Given the description of an element on the screen output the (x, y) to click on. 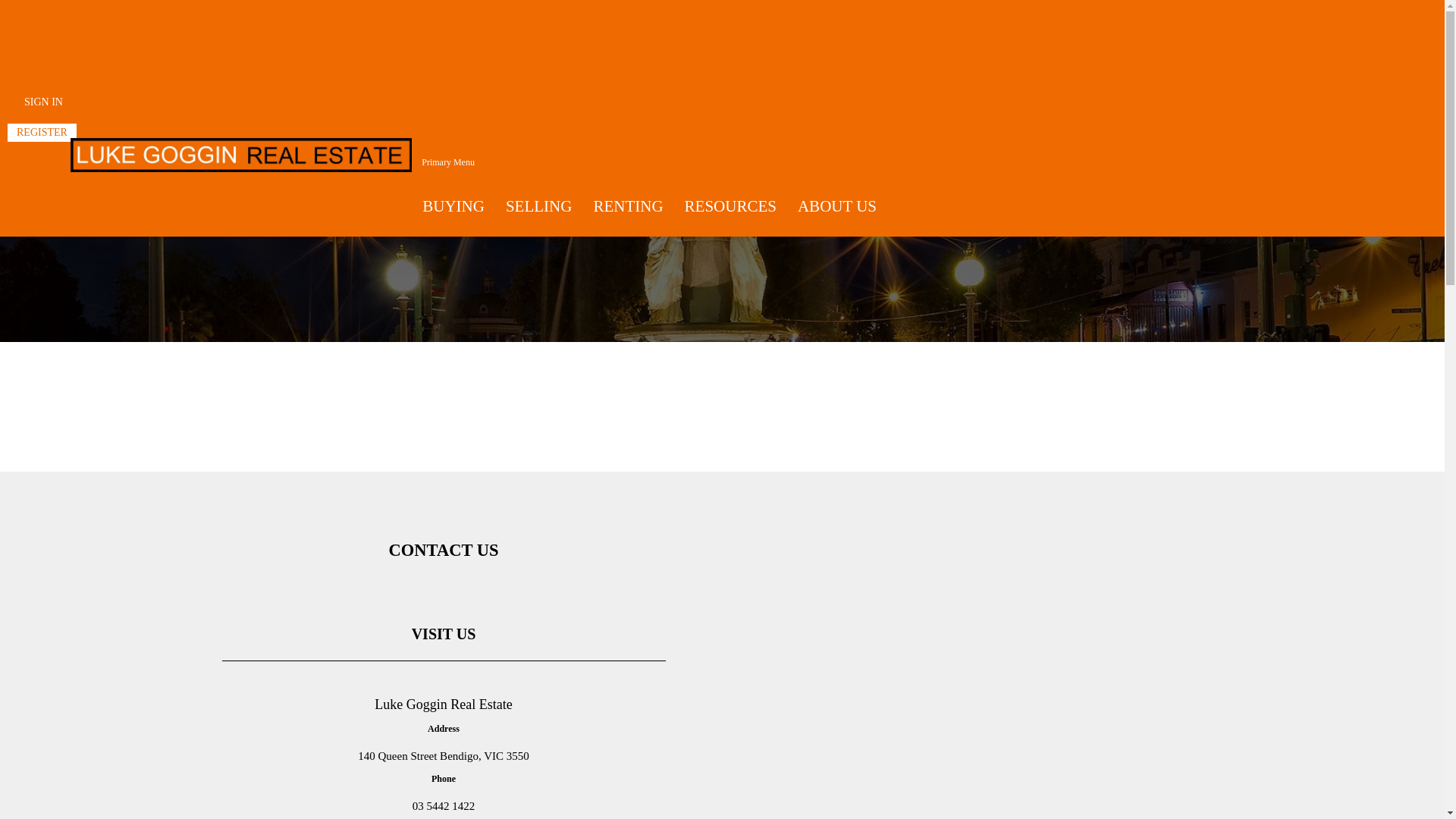
Home Element type: text (30, 186)
Primary Menu Element type: text (447, 161)
BUYING Element type: text (453, 205)
RESOURCES Element type: text (730, 205)
SELLING Element type: text (539, 205)
ABOUT US Element type: text (837, 205)
SIGN IN Element type: text (43, 102)
03 5442 1422 Element type: text (443, 806)
REGISTER Element type: text (41, 132)
RENTING Element type: text (627, 205)
